Given the description of an element on the screen output the (x, y) to click on. 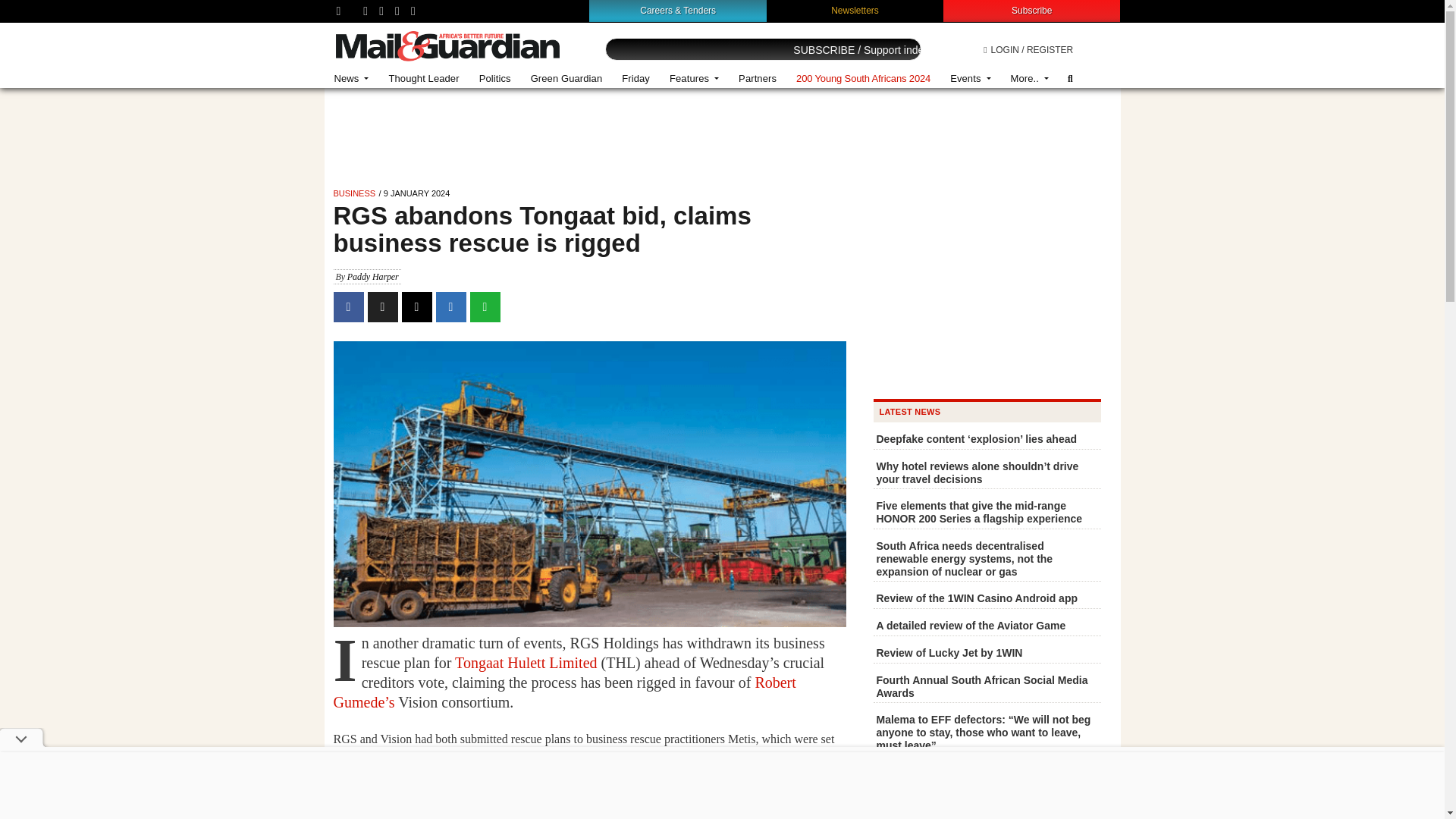
Subscribe (1031, 9)
Green Guardian (566, 78)
News (351, 78)
Friday (635, 78)
Politics (494, 78)
News (351, 78)
Thought Leader (423, 78)
Newsletters (855, 9)
Features (694, 78)
